Given the description of an element on the screen output the (x, y) to click on. 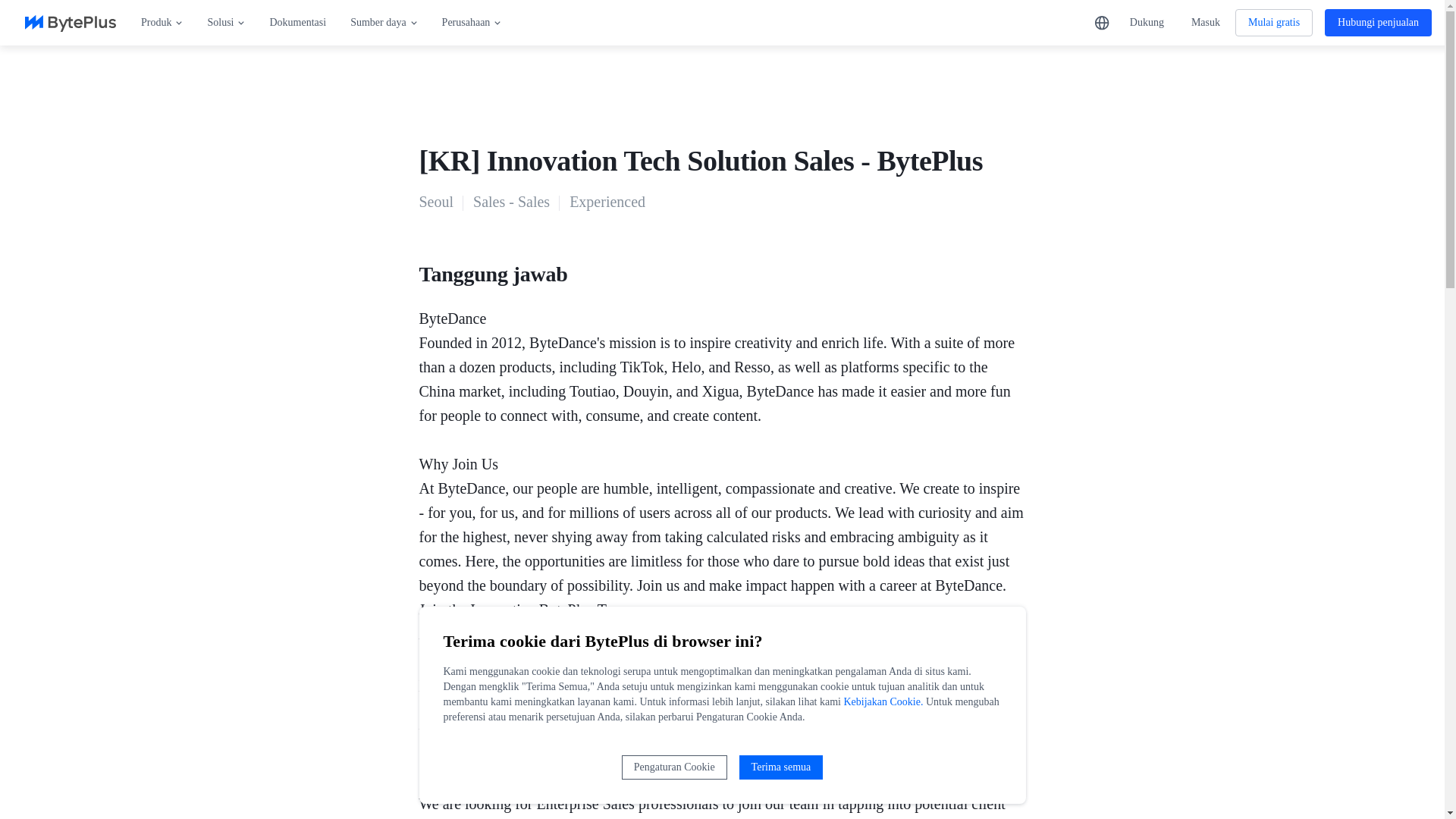
Dokumentasi (297, 22)
Masuk (1205, 22)
Dukung (1147, 22)
Hubungi penjualan (1377, 22)
Mulai gratis (1273, 22)
Sumber daya (383, 22)
Perusahaan (471, 22)
Solusi (226, 22)
Produk (162, 22)
